Given the description of an element on the screen output the (x, y) to click on. 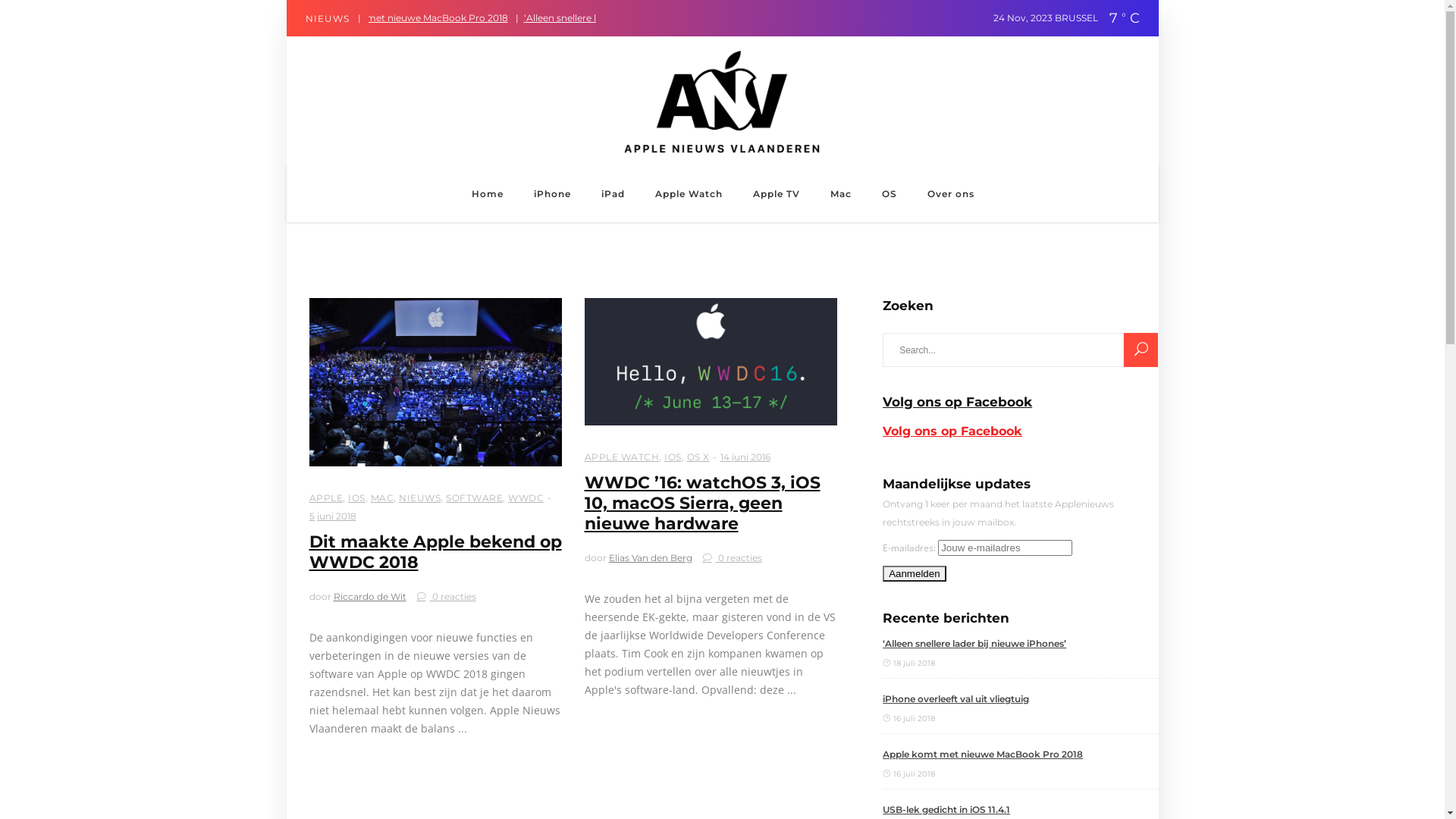
Apple TV Element type: text (775, 193)
OS X Element type: text (698, 456)
iPhone Element type: text (552, 193)
iPhone overleeft val uit vliegtuig Element type: text (365, 17)
Dit maakte Apple bekend op WWDC 2018 Element type: text (435, 551)
Apple komt met nieuwe MacBook Pro 2018 Element type: text (552, 17)
Apple komt met nieuwe MacBook Pro 2018 Element type: text (1019, 754)
14 juni 2016 Element type: text (745, 456)
APPLE Element type: text (326, 497)
Elias Van den Berg Element type: text (649, 557)
0 reacties Element type: text (731, 557)
0 reacties Element type: text (446, 596)
USB-lek gedicht in iOS 11.4.1 Element type: text (1019, 809)
IOS Element type: text (356, 497)
Volg ons op Facebook Element type: text (952, 430)
Home Element type: text (487, 193)
iPhone overleeft val uit vliegtuig Element type: text (937, 17)
Search for: Element type: hover (1002, 349)
Apple komt met nieuwe MacBook Pro 2018 Element type: text (1124, 17)
Dit maakte Apple bekend op WWDC 2018 Element type: hover (435, 382)
MAC Element type: text (381, 497)
5 juni 2018 Element type: text (332, 515)
Riccardo de Wit Element type: text (369, 596)
Over ons Element type: text (949, 193)
Mac Element type: text (840, 193)
iPhone overleeft val uit vliegtuig Element type: text (1019, 698)
WWDC Element type: text (525, 497)
APPLE WATCH Element type: text (620, 456)
SOFTWARE Element type: text (473, 497)
Aanmelden Element type: text (913, 573)
iPad Element type: text (612, 193)
OS Element type: text (888, 193)
NIEUWS Element type: text (419, 497)
Apple Watch Element type: text (688, 193)
Volg ons op Facebook Element type: text (957, 401)
IOS Element type: text (672, 456)
